Given the description of an element on the screen output the (x, y) to click on. 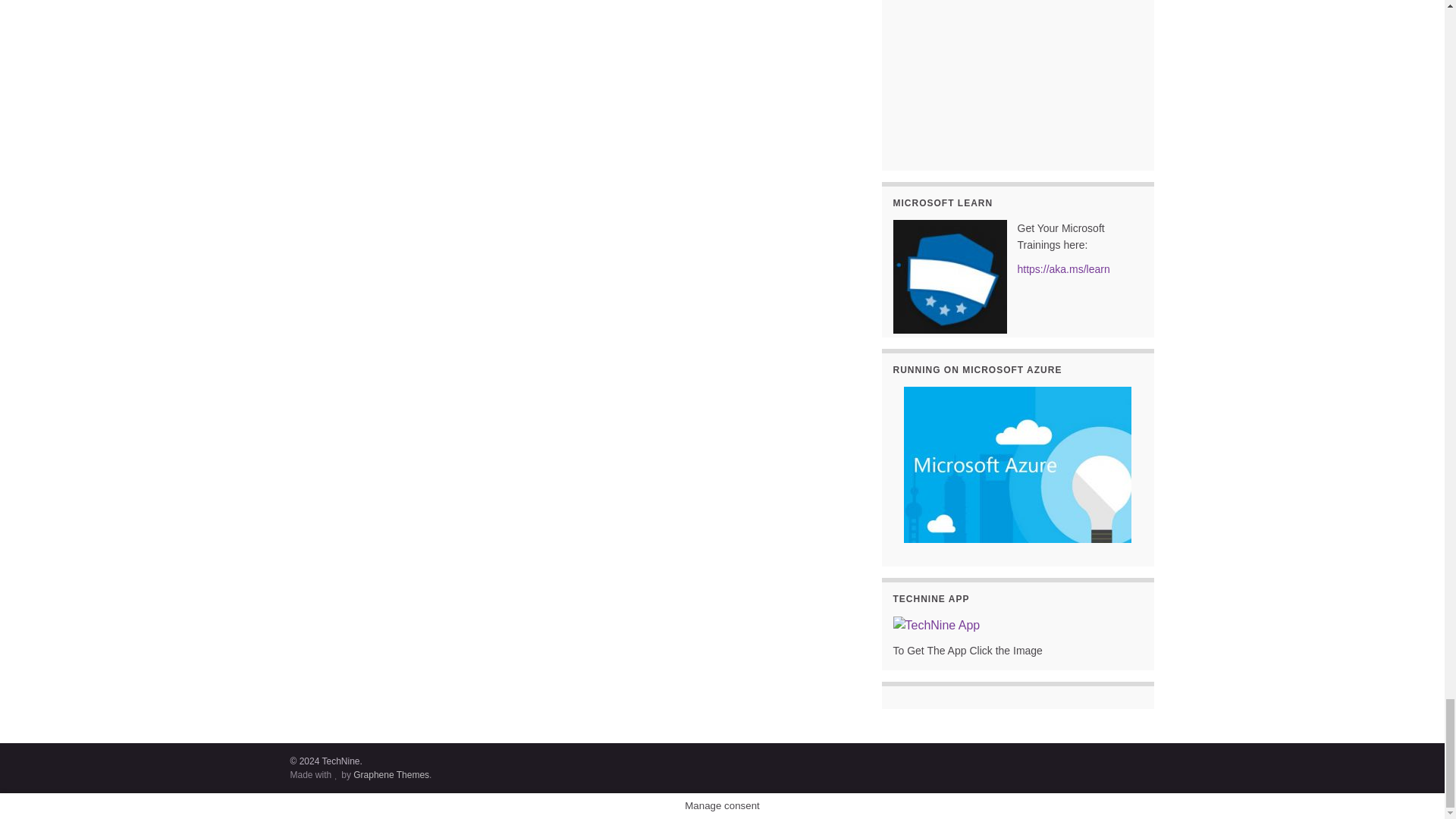
Graphene Themes (391, 774)
